Given the description of an element on the screen output the (x, y) to click on. 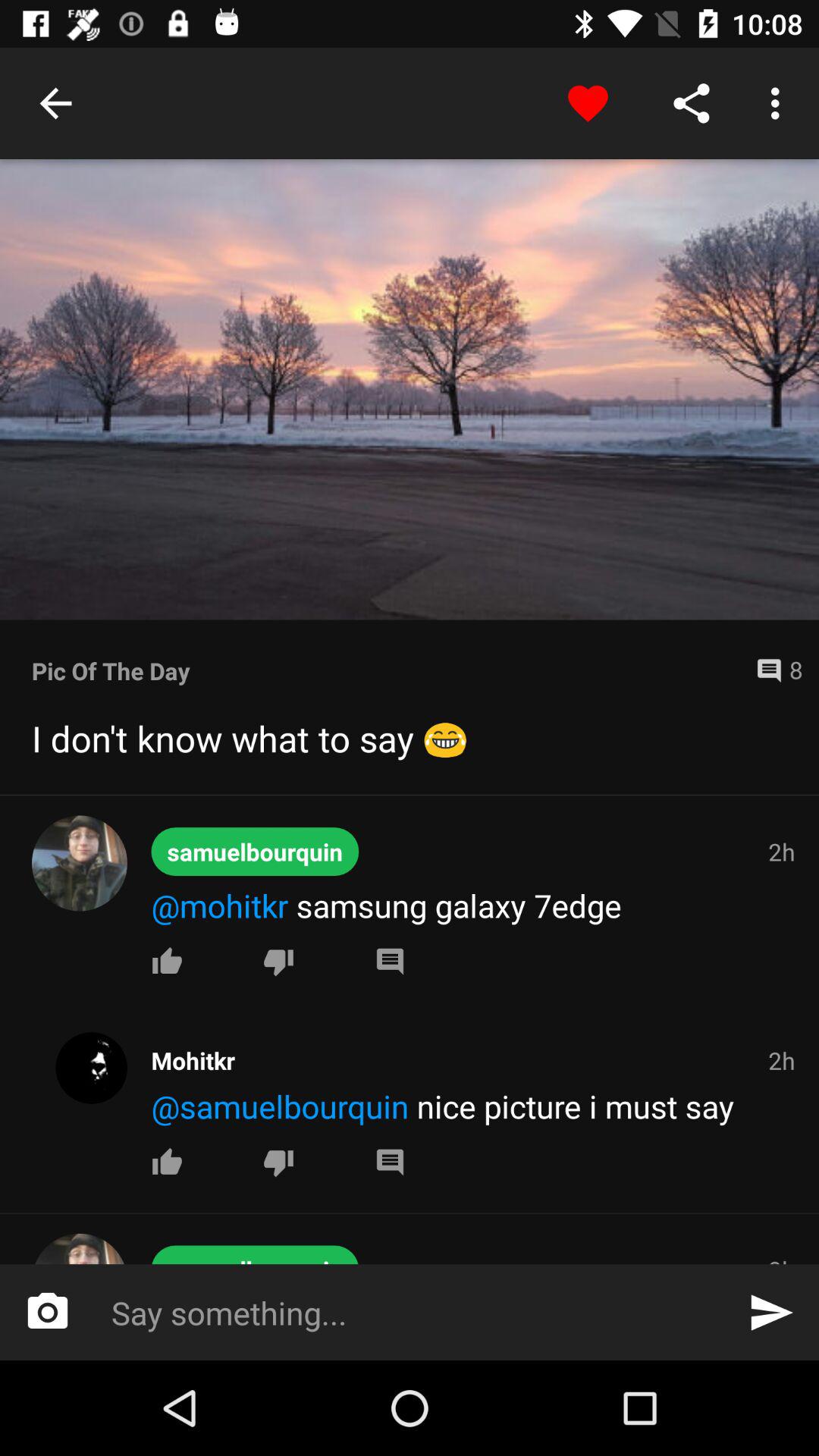
click item below the 3h item (771, 1312)
